Given the description of an element on the screen output the (x, y) to click on. 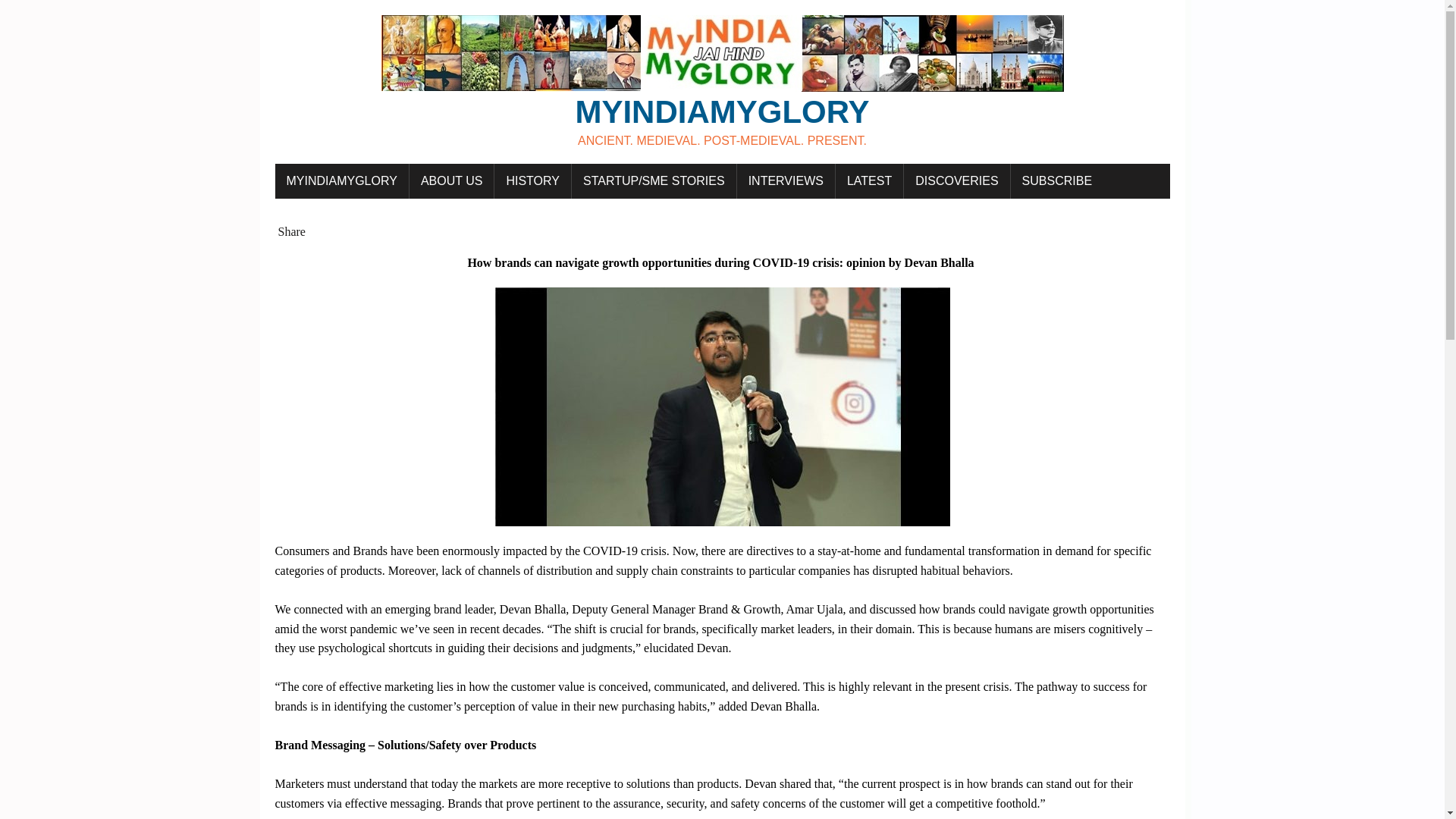
DISCOVERIES (956, 181)
LATEST (868, 181)
MYINDIAMYGLORY (341, 181)
myIndiamyGlory (722, 81)
ABOUT US (452, 181)
INTERVIEWS (785, 181)
Share (291, 232)
HISTORY (532, 181)
SUBSCRIBE (1056, 181)
